Given the description of an element on the screen output the (x, y) to click on. 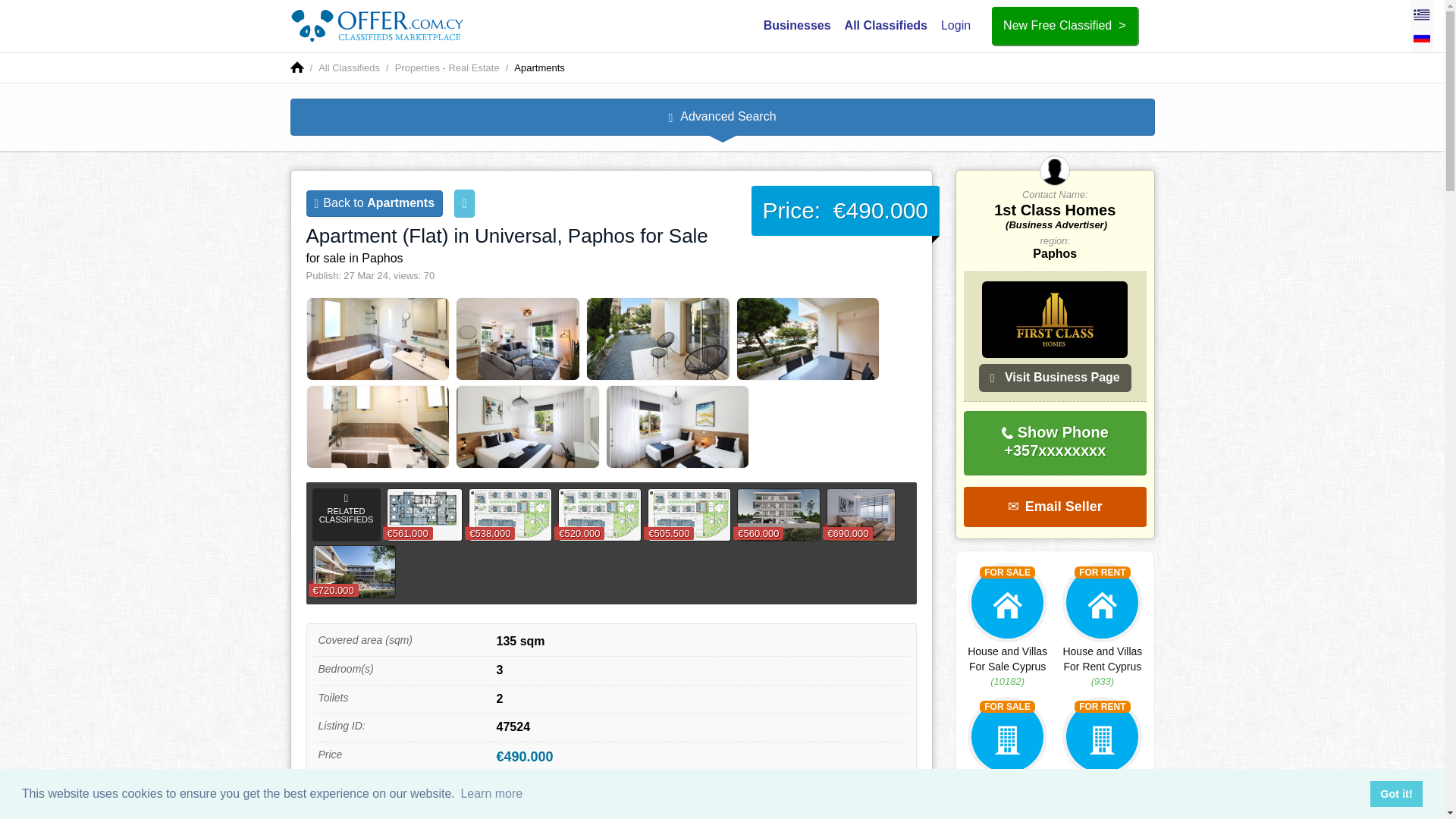
Apartments (538, 67)
Got it! (1396, 793)
Learn more (491, 793)
Create a free classified ad in Cyprus (1064, 25)
Back to Apartments (374, 203)
Cyprus Properties - Real Estate (446, 67)
Businesses (796, 24)
Businesses (796, 24)
All Classifieds (885, 24)
All Classifieds (349, 67)
Login (955, 24)
Login (955, 24)
Cyprus Apartments (538, 67)
All Classifieds (349, 67)
Properties - Real Estate (446, 67)
